Given the description of an element on the screen output the (x, y) to click on. 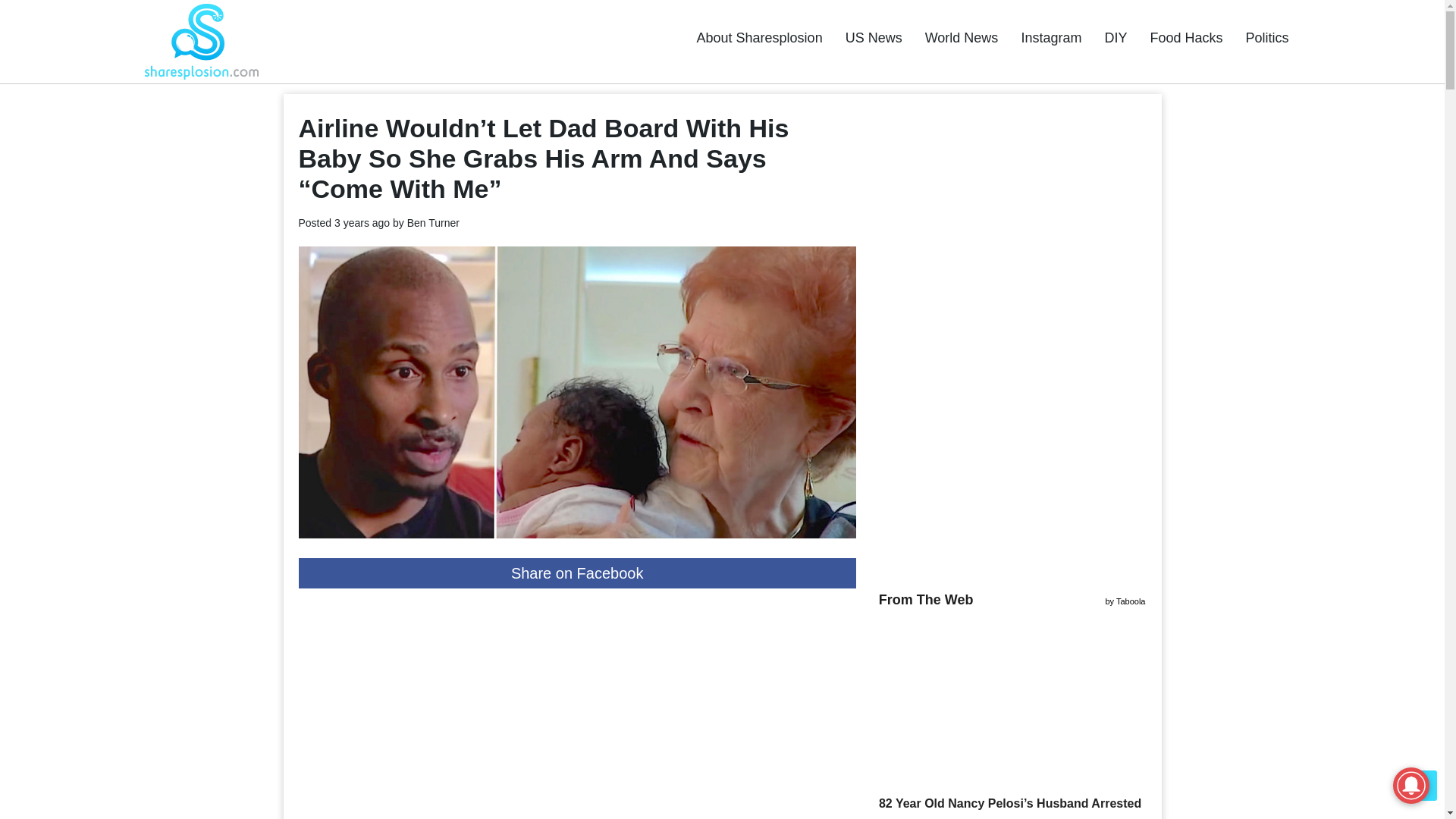
US News (873, 37)
Politics (1266, 37)
Instagram (1050, 37)
About Sharesplosion (759, 37)
Posts by Ben Turner (433, 223)
Ben Turner (433, 223)
Share on Facebook (577, 573)
DIY (1114, 37)
Advertisement (577, 709)
Food Hacks (1186, 37)
